Given the description of an element on the screen output the (x, y) to click on. 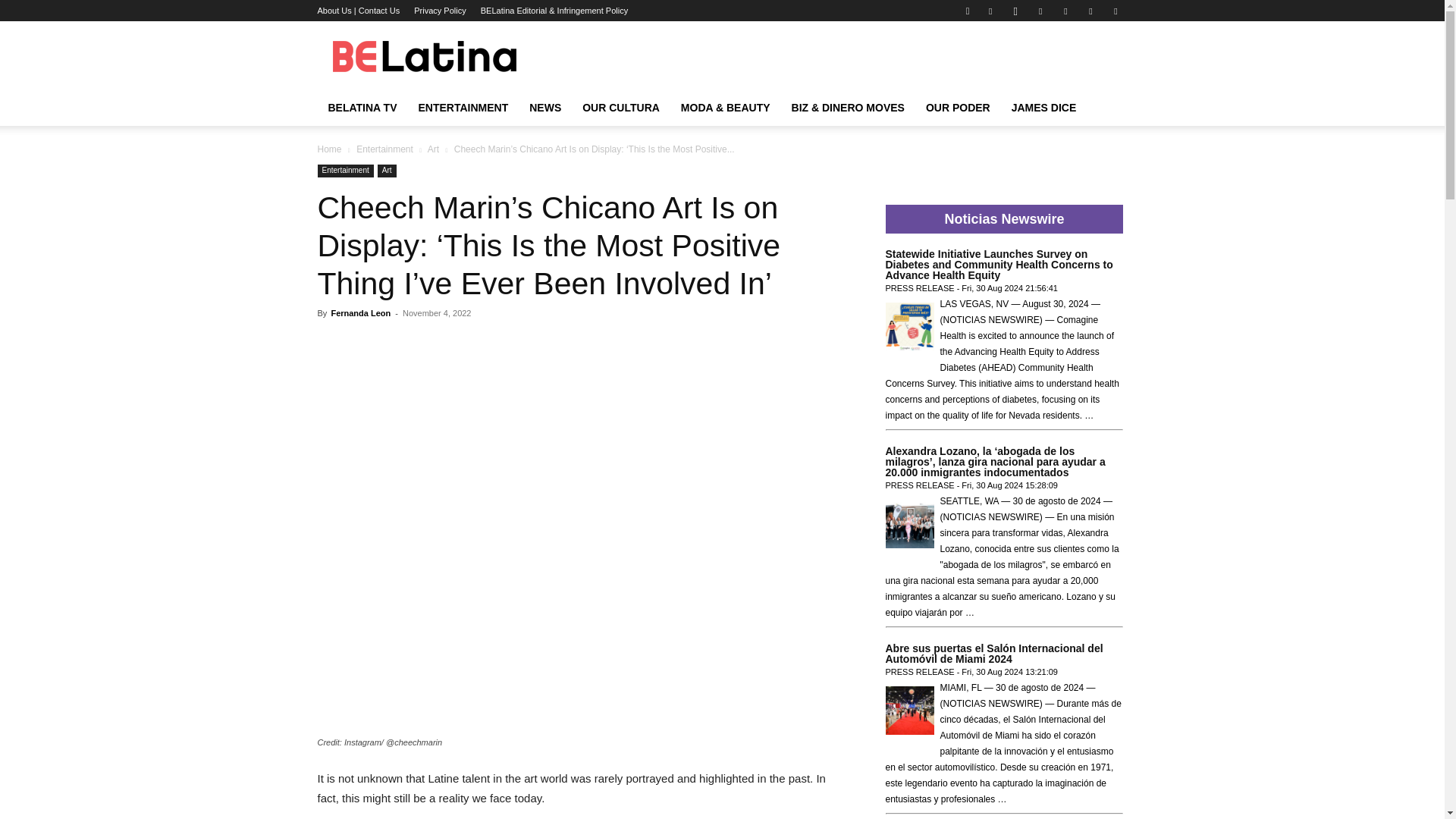
Instagram (1015, 10)
RSS (1090, 10)
Pinterest (1065, 10)
Twitter (1114, 10)
Linkedin (1040, 10)
Facebook (989, 10)
